Given the description of an element on the screen output the (x, y) to click on. 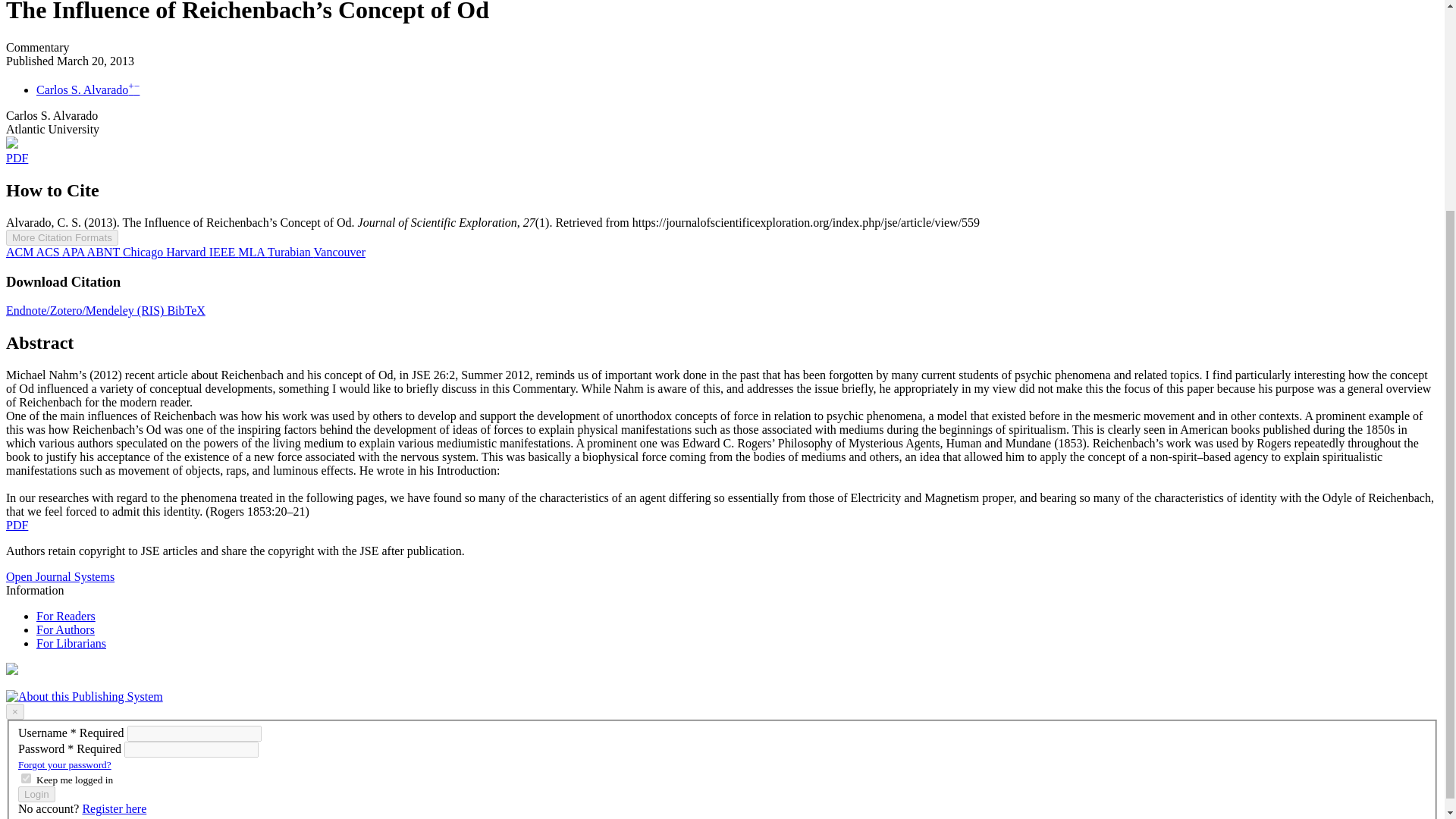
PDF (16, 524)
1 (25, 777)
For Readers (66, 615)
Turabian (290, 251)
More Citation Formats (61, 237)
For Librarians (71, 643)
ACS (49, 251)
Chicago (143, 251)
For Authors (65, 629)
ACM (20, 251)
IEEE (223, 251)
MLA (252, 251)
BibTeX (186, 309)
Harvard (186, 251)
ABNT (104, 251)
